Given the description of an element on the screen output the (x, y) to click on. 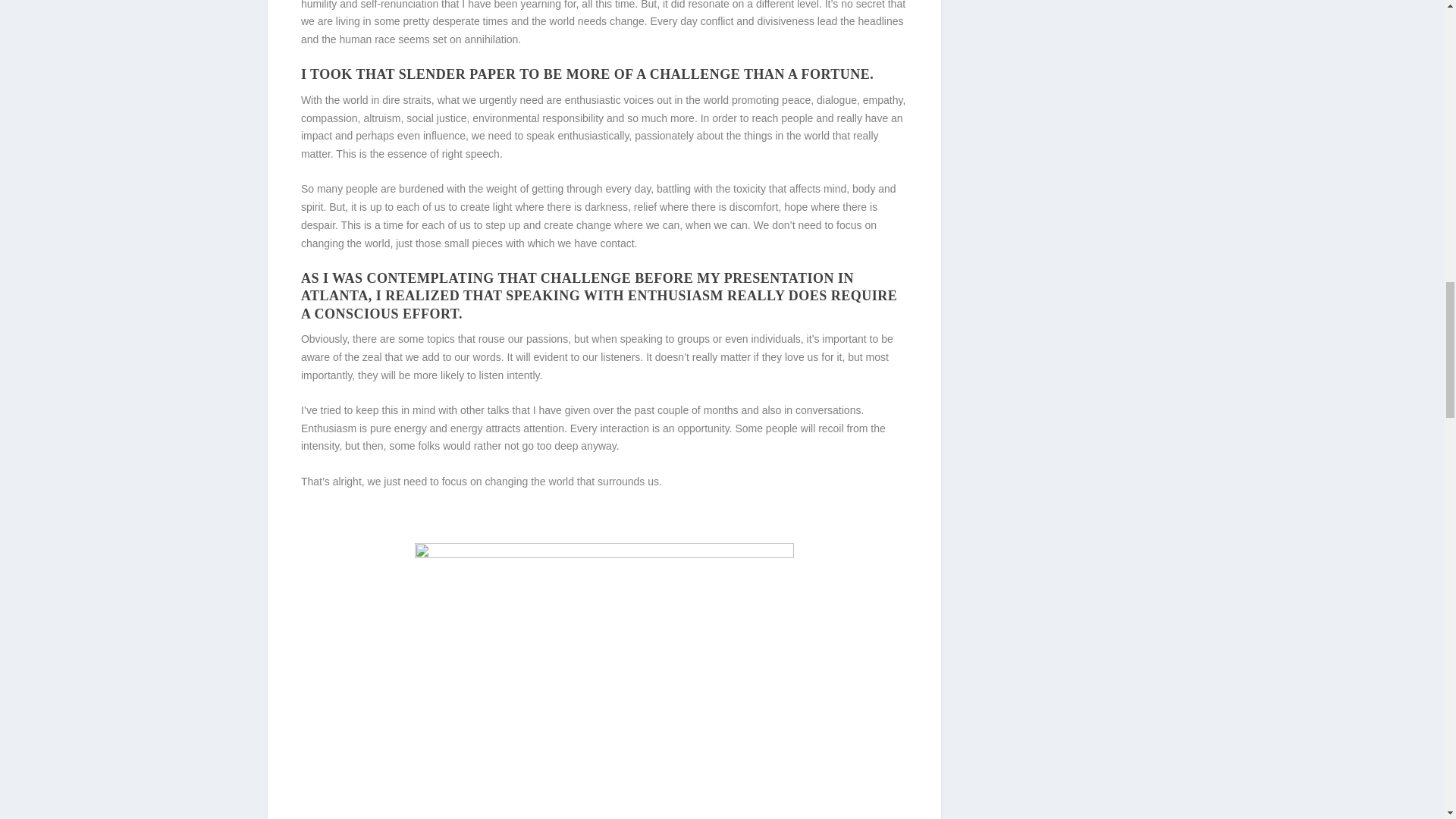
voices (638, 100)
